Given the description of an element on the screen output the (x, y) to click on. 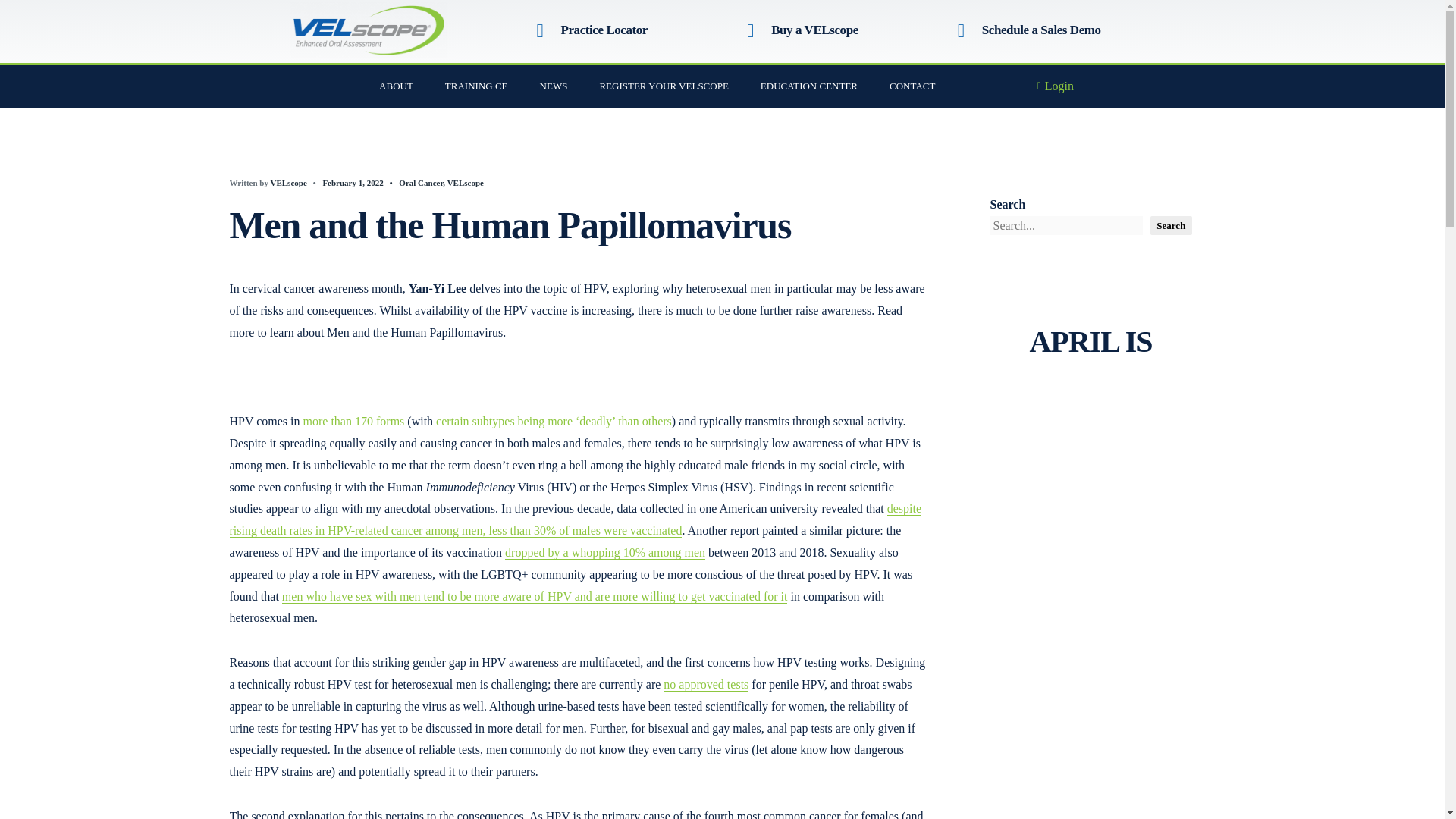
Schedule a Sales Demo (1040, 29)
ABOUT (395, 86)
Buy a VELscope (815, 29)
TRAINING CE (476, 86)
REGISTER YOUR VELSCOPE (663, 86)
EDUCATION CENTER (808, 86)
CONTACT (911, 86)
NEWS (553, 86)
Practice Locator (603, 29)
Posts by VELscope (287, 182)
